Given the description of an element on the screen output the (x, y) to click on. 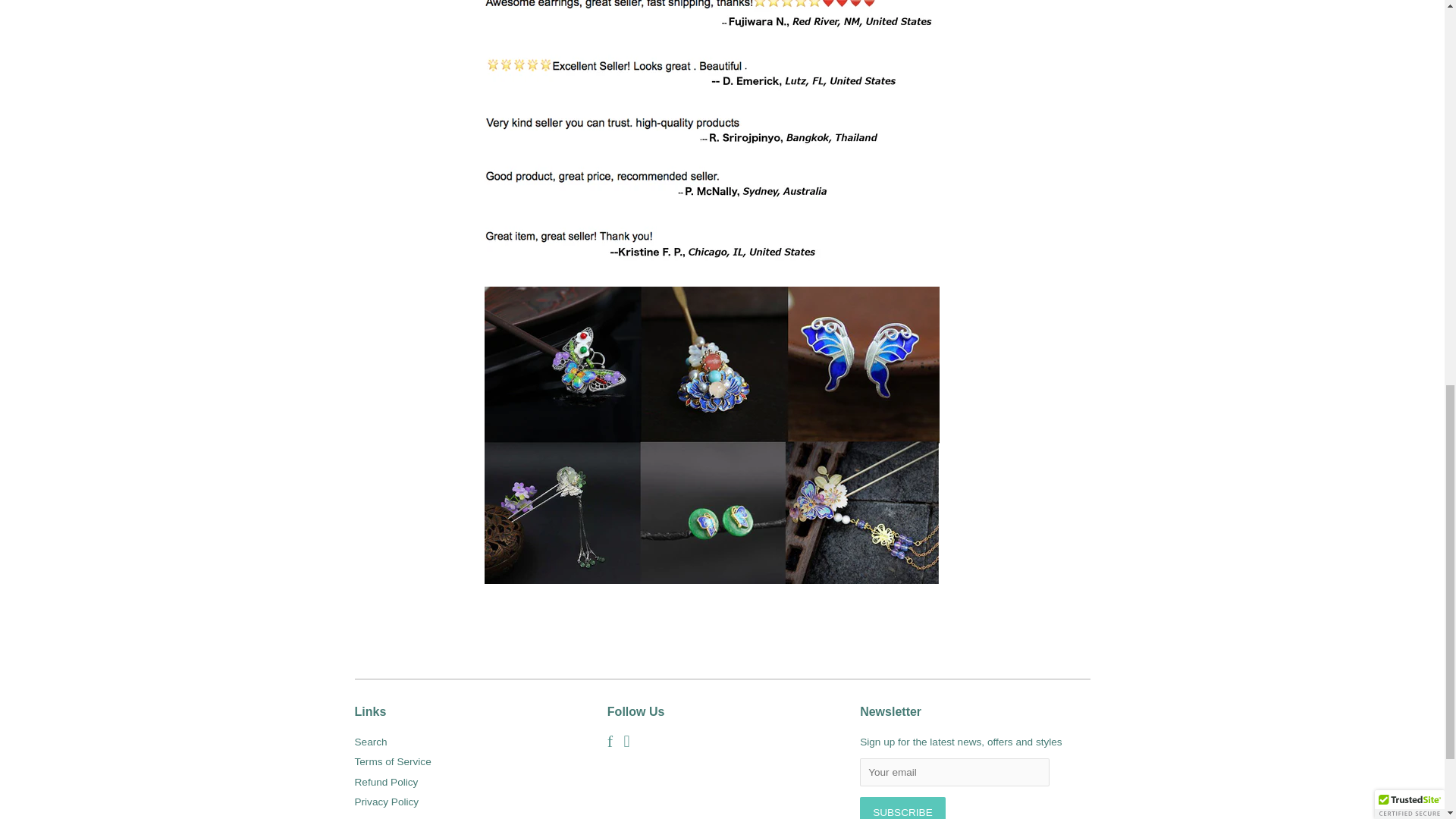
Subscribe (902, 807)
